Given the description of an element on the screen output the (x, y) to click on. 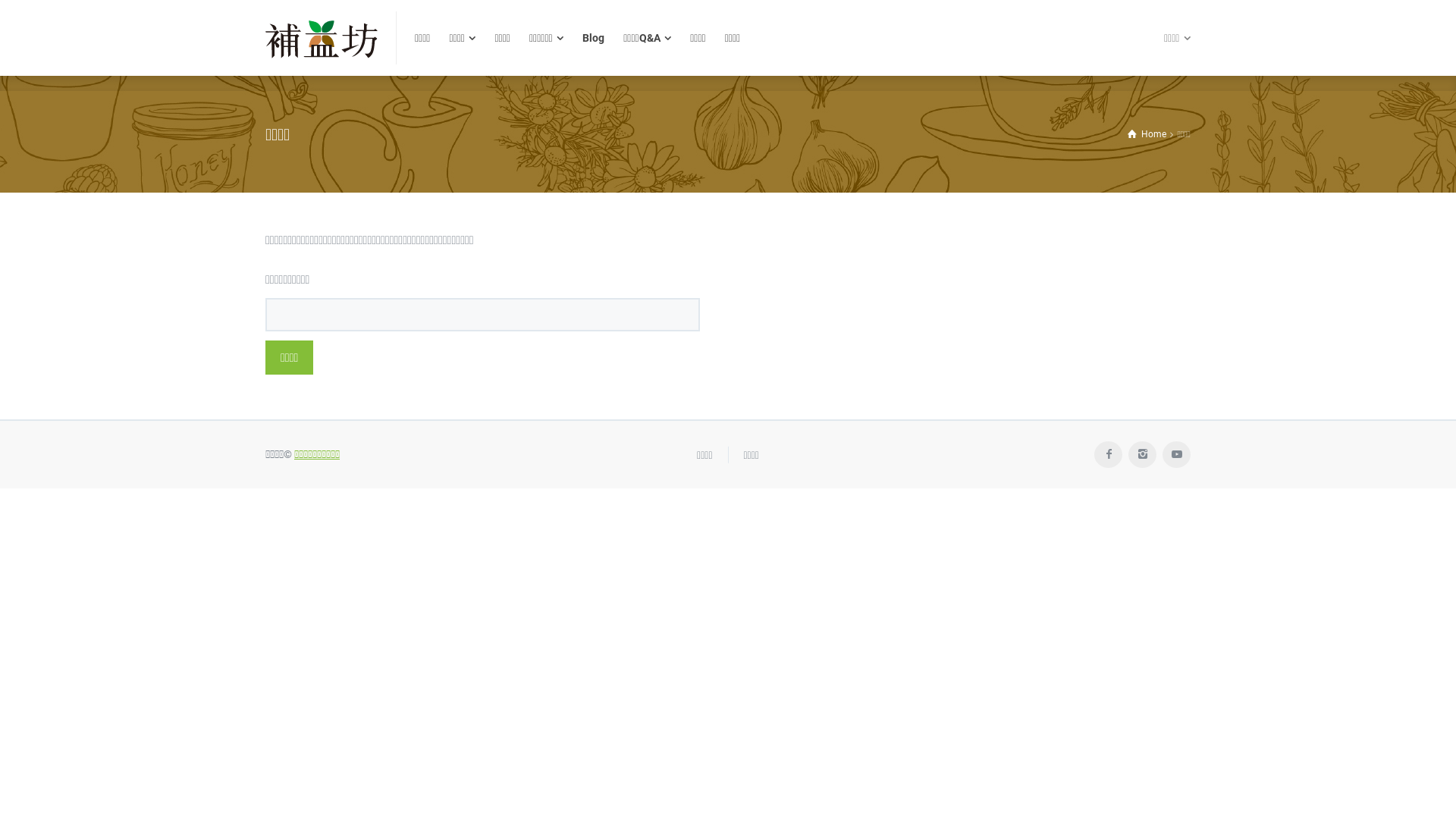
Facebook Element type: hover (1108, 454)
Instagram Element type: hover (1142, 454)
Blog Element type: text (593, 37)
Home Element type: text (1145, 133)
YouTube Element type: hover (1176, 454)
